Given the description of an element on the screen output the (x, y) to click on. 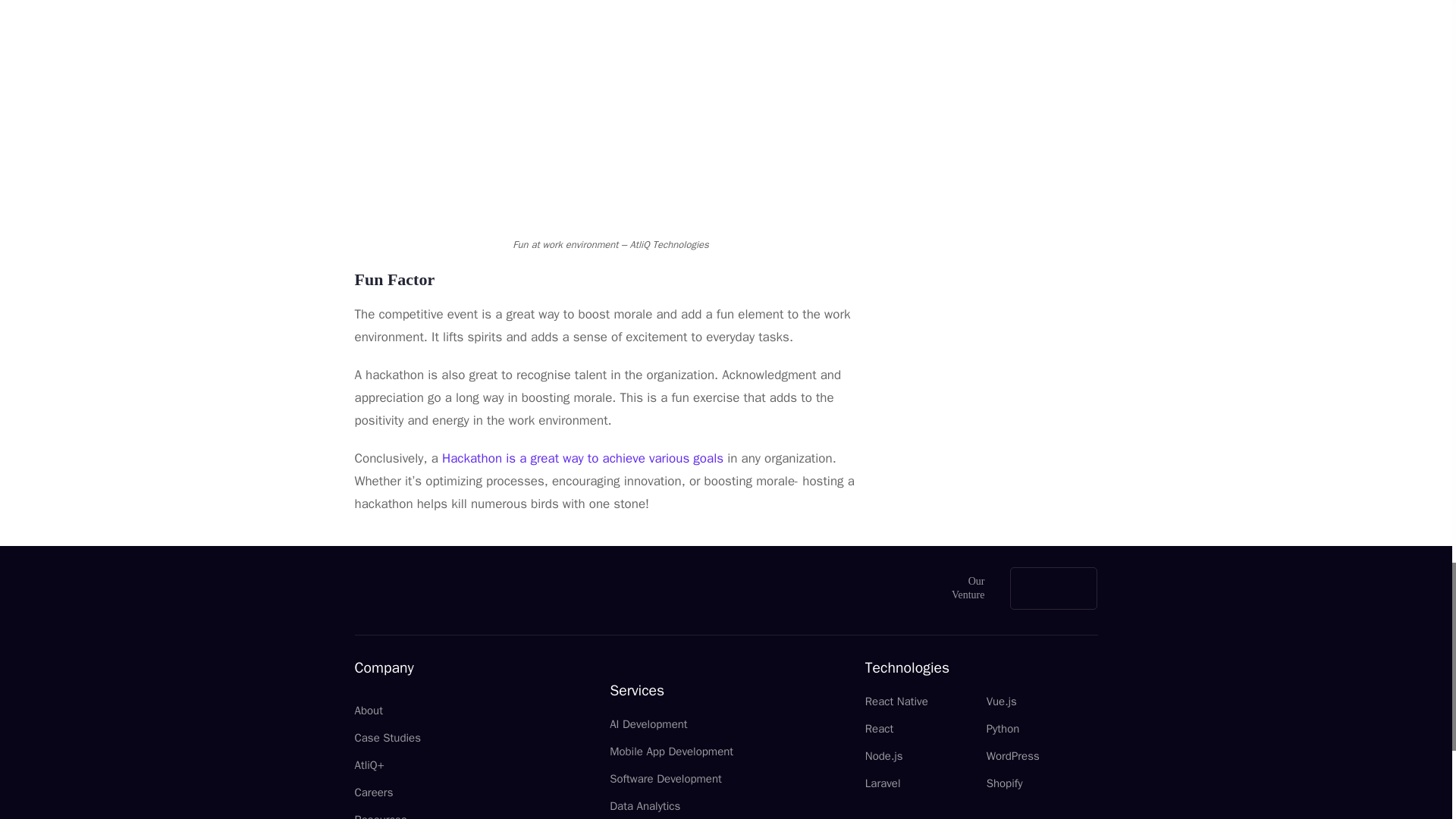
logo2 (428, 588)
Hackathon is a great way to achieve various goals (582, 458)
